Given the description of an element on the screen output the (x, y) to click on. 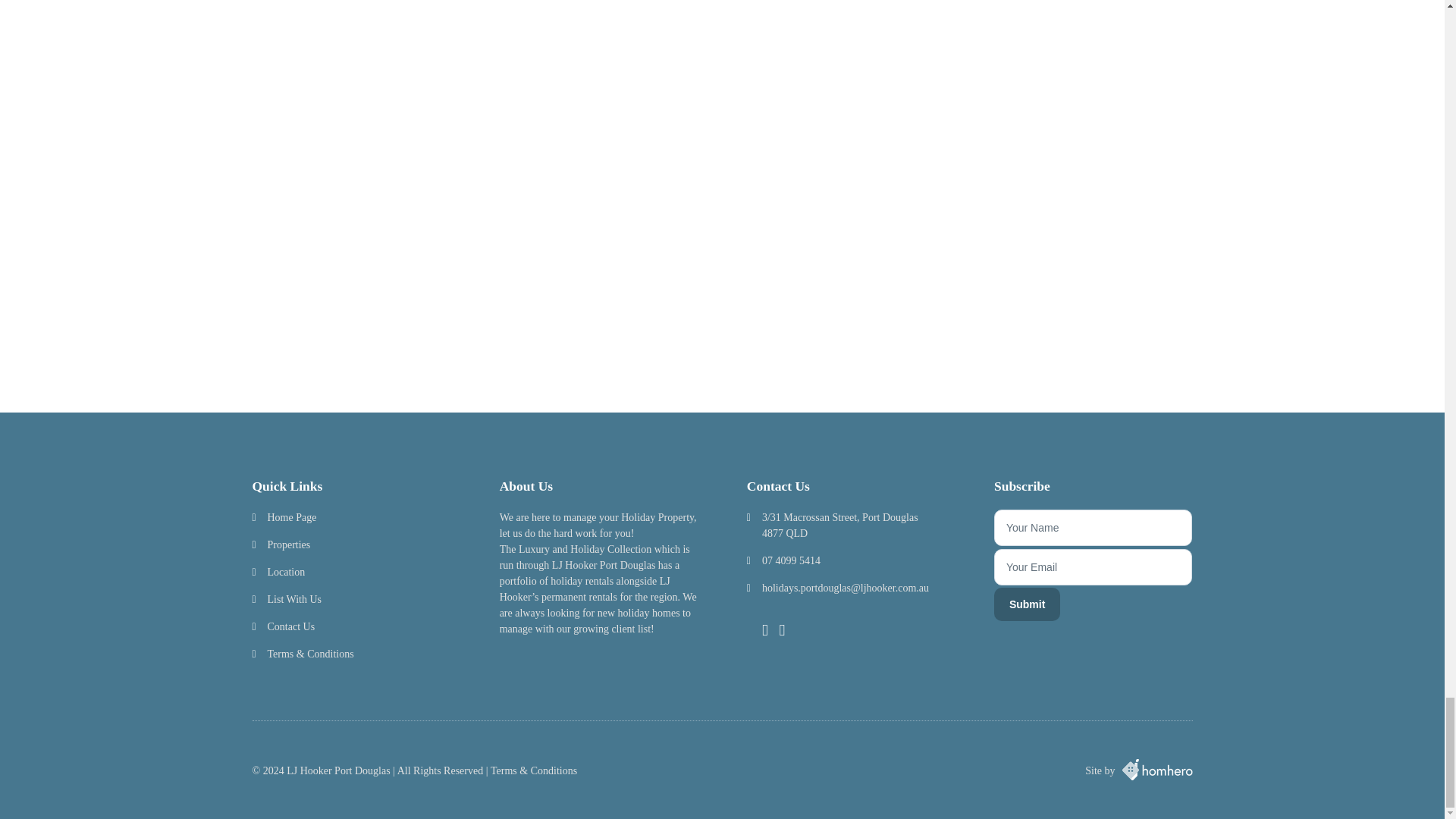
Your Email (1093, 566)
Submit (1026, 604)
Your Name (1093, 527)
